Given the description of an element on the screen output the (x, y) to click on. 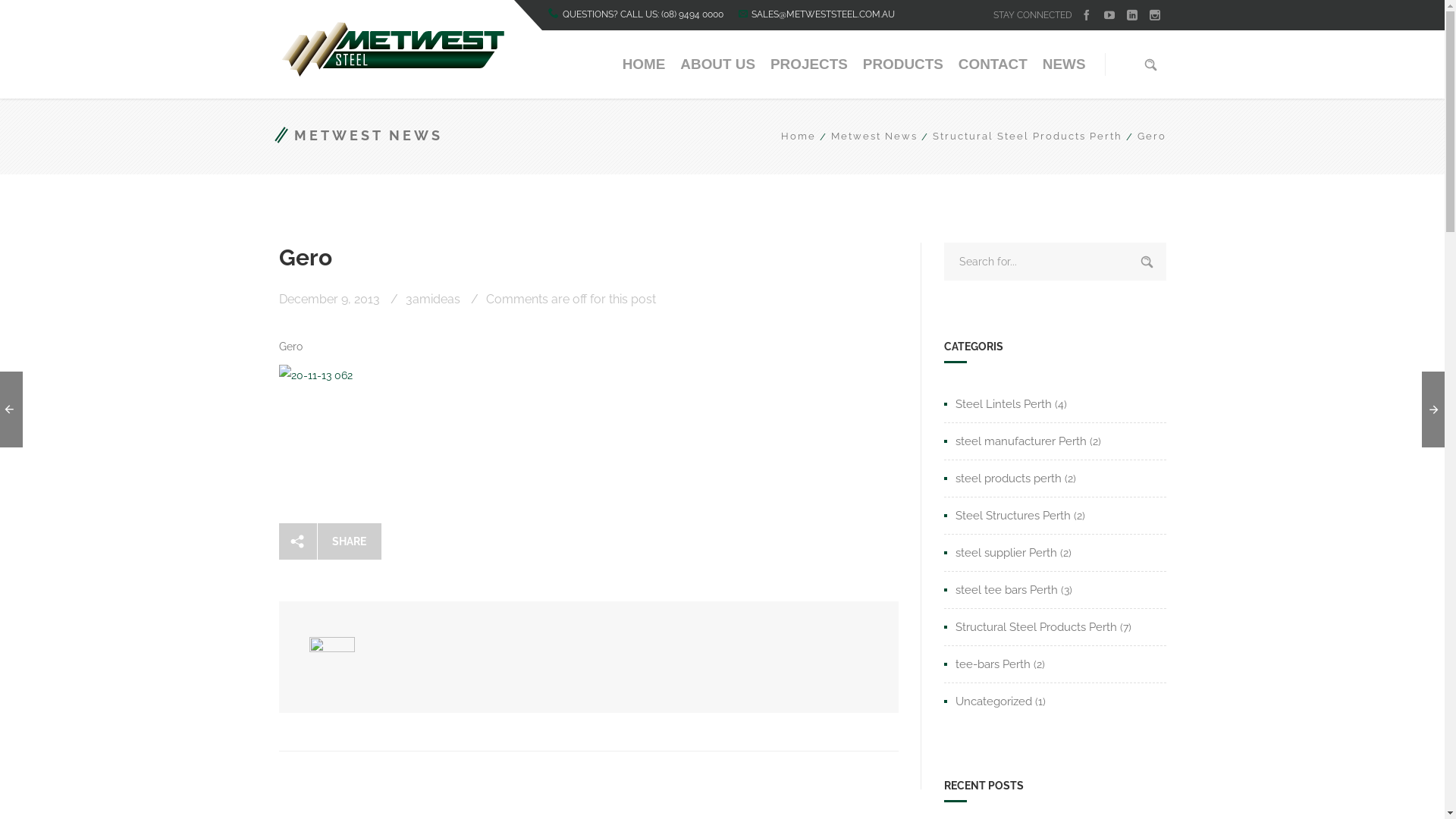
PROJECTS Element type: text (808, 64)
Structural Steel Products Perth Element type: text (1019, 135)
steel manufacturer Perth Element type: text (1015, 440)
Steel Lintels Perth Element type: text (997, 403)
Steel Structures Perth Element type: text (1007, 515)
Search Element type: text (1147, 261)
Metwest Steel Element type: hover (392, 49)
NEWS Element type: text (1063, 64)
Metwest News Element type: text (866, 135)
CONTACT Element type: text (992, 64)
Structural Steel Products Perth Element type: text (1030, 626)
tee-bars Perth Element type: text (987, 663)
Uncategorized Element type: text (988, 701)
Home Element type: text (798, 135)
steel tee bars Perth Element type: text (1000, 589)
instagram Element type: hover (1154, 15)
linkedin Element type: hover (1131, 15)
steel supplier Perth Element type: text (1000, 552)
steel products perth Element type: text (1002, 478)
ABOUT US Element type: text (717, 64)
HOME Element type: text (643, 64)
youtube Element type: hover (1109, 15)
PRODUCTS Element type: text (902, 64)
facebook Element type: hover (1086, 15)
